Given the description of an element on the screen output the (x, y) to click on. 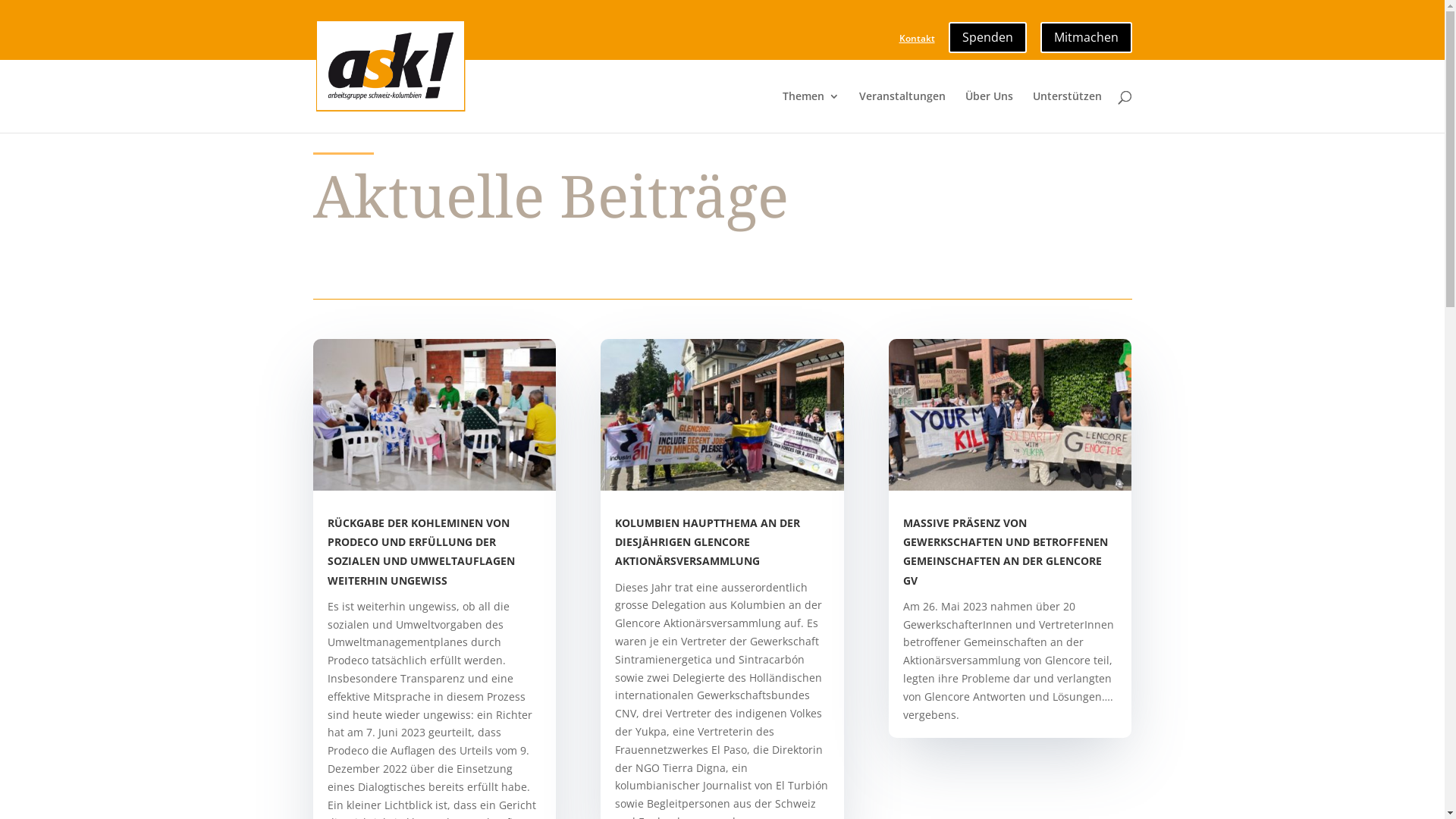
Spenden Element type: text (986, 32)
Veranstaltungen Element type: text (901, 111)
Themen Element type: text (810, 111)
Mitmachen Element type: text (1086, 32)
Kontakt Element type: text (917, 42)
